Given the description of an element on the screen output the (x, y) to click on. 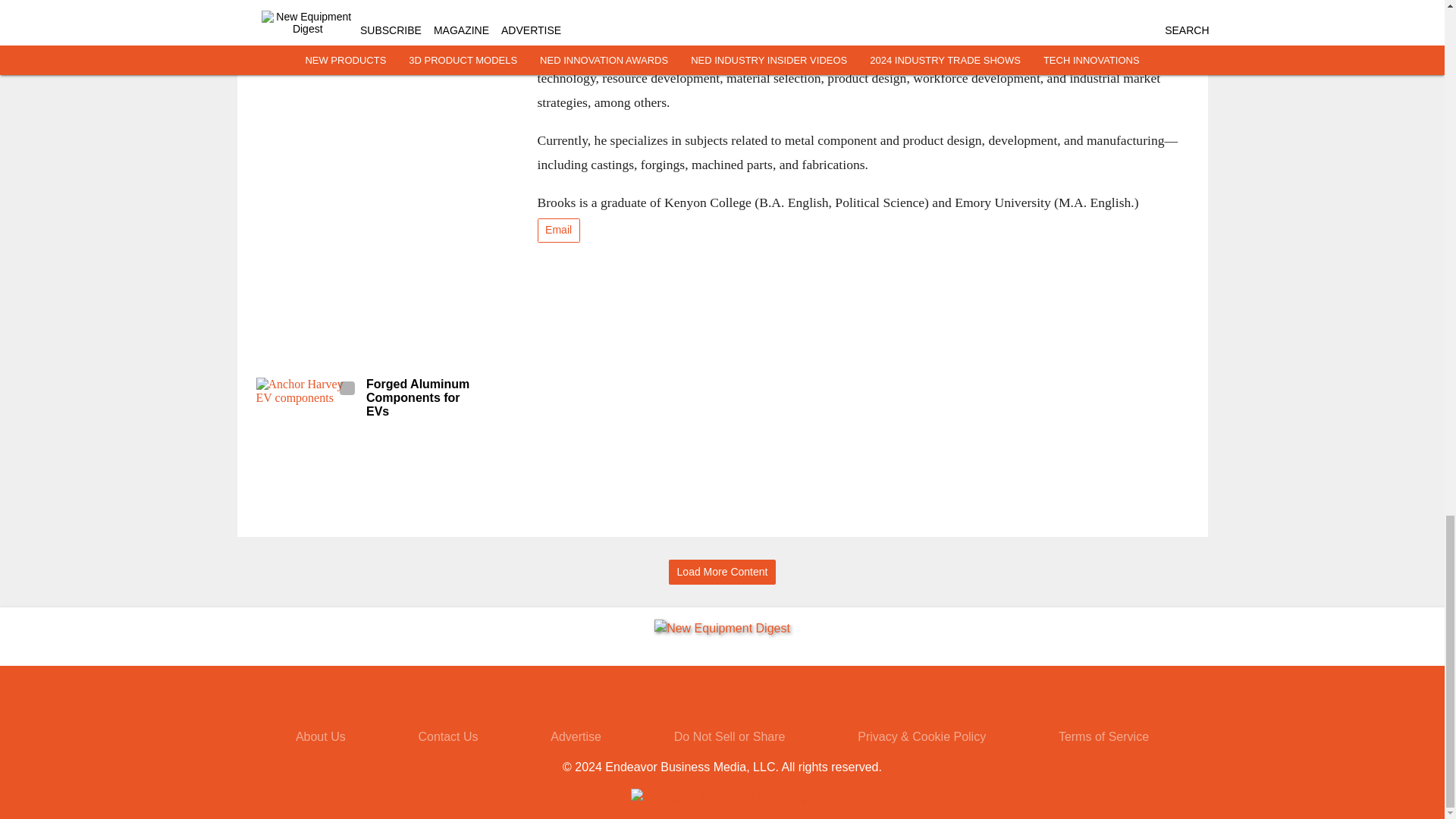
Anchor Harvey EV components (307, 405)
Forged Aluminum Components for EVs (424, 397)
